Given the description of an element on the screen output the (x, y) to click on. 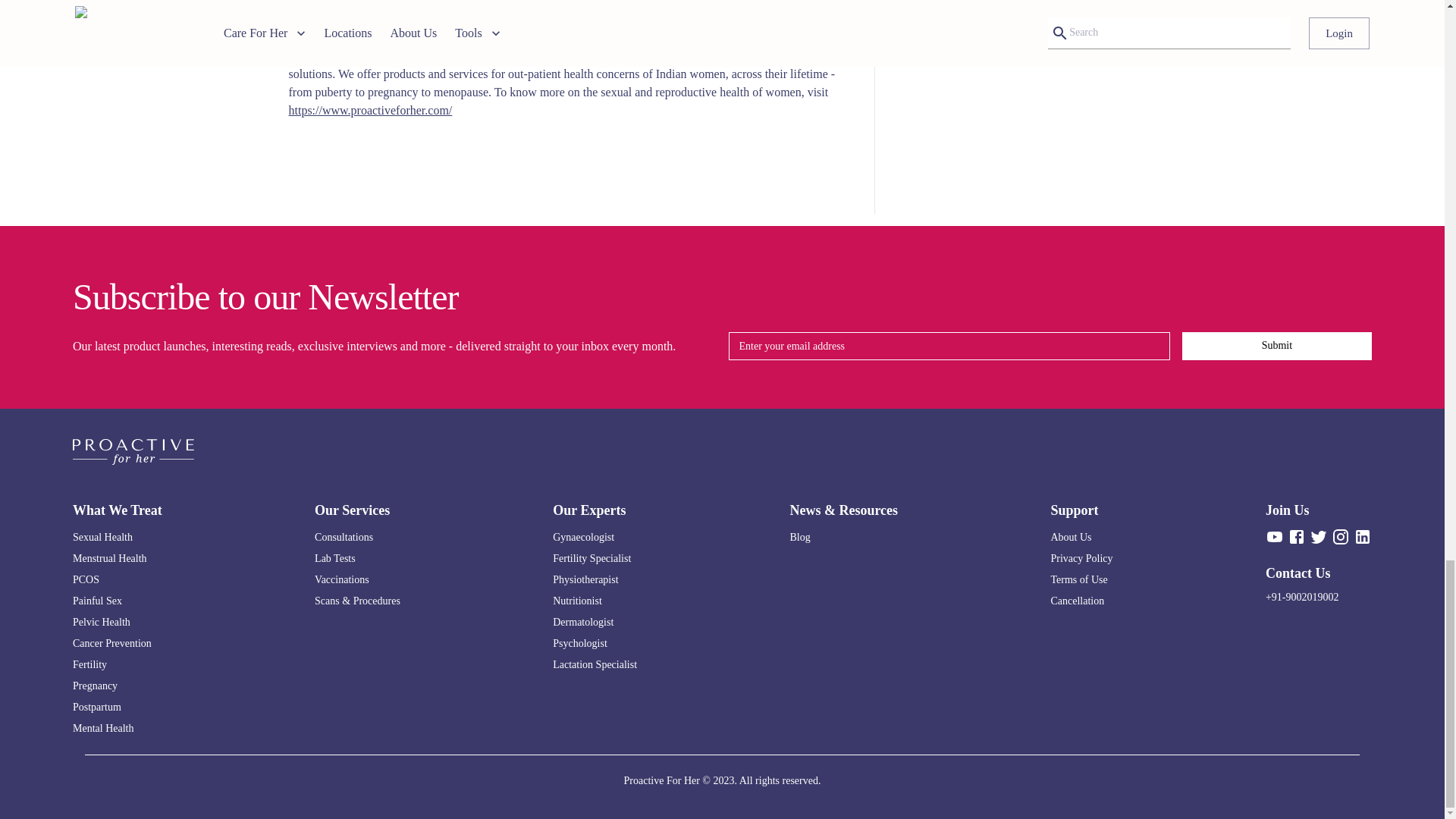
ProactiveForHer (328, 55)
Postpartum (116, 707)
Cancer Prevention (116, 643)
PCOS (116, 580)
Gynaecologist (595, 537)
Vaccinations (357, 580)
Mental Health (116, 728)
Pelvic Health (116, 622)
Fertility Specialist (595, 558)
Pregnancy (116, 685)
